Given the description of an element on the screen output the (x, y) to click on. 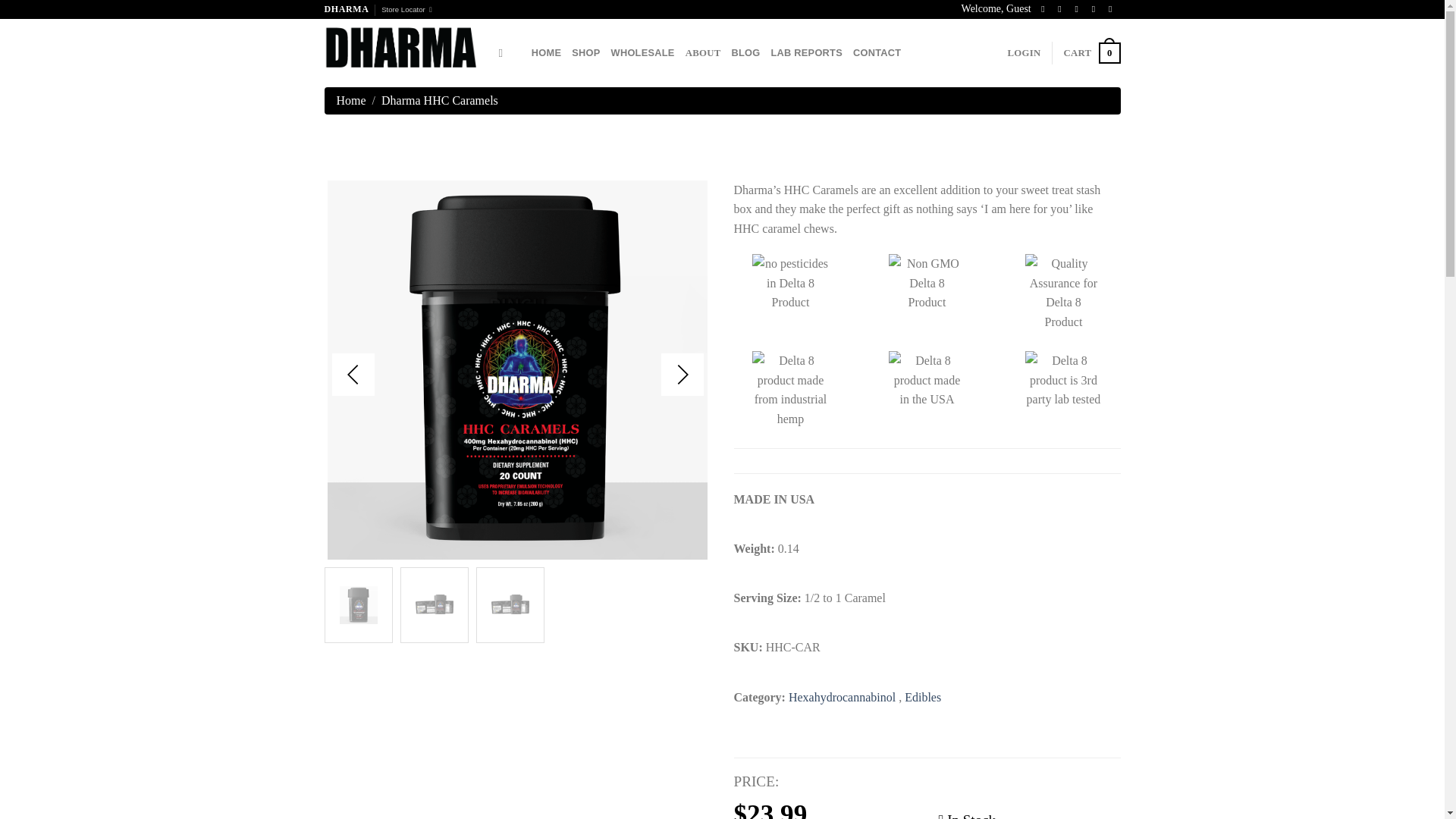
Home (351, 100)
ABOUT (702, 52)
WHOLESALE (643, 52)
LOGIN (1024, 52)
HOME (545, 52)
Open Cart (1090, 52)
LAB REPORTS (806, 52)
CONTACT (877, 52)
Hexahydrocannabinol (843, 697)
